Given the description of an element on the screen output the (x, y) to click on. 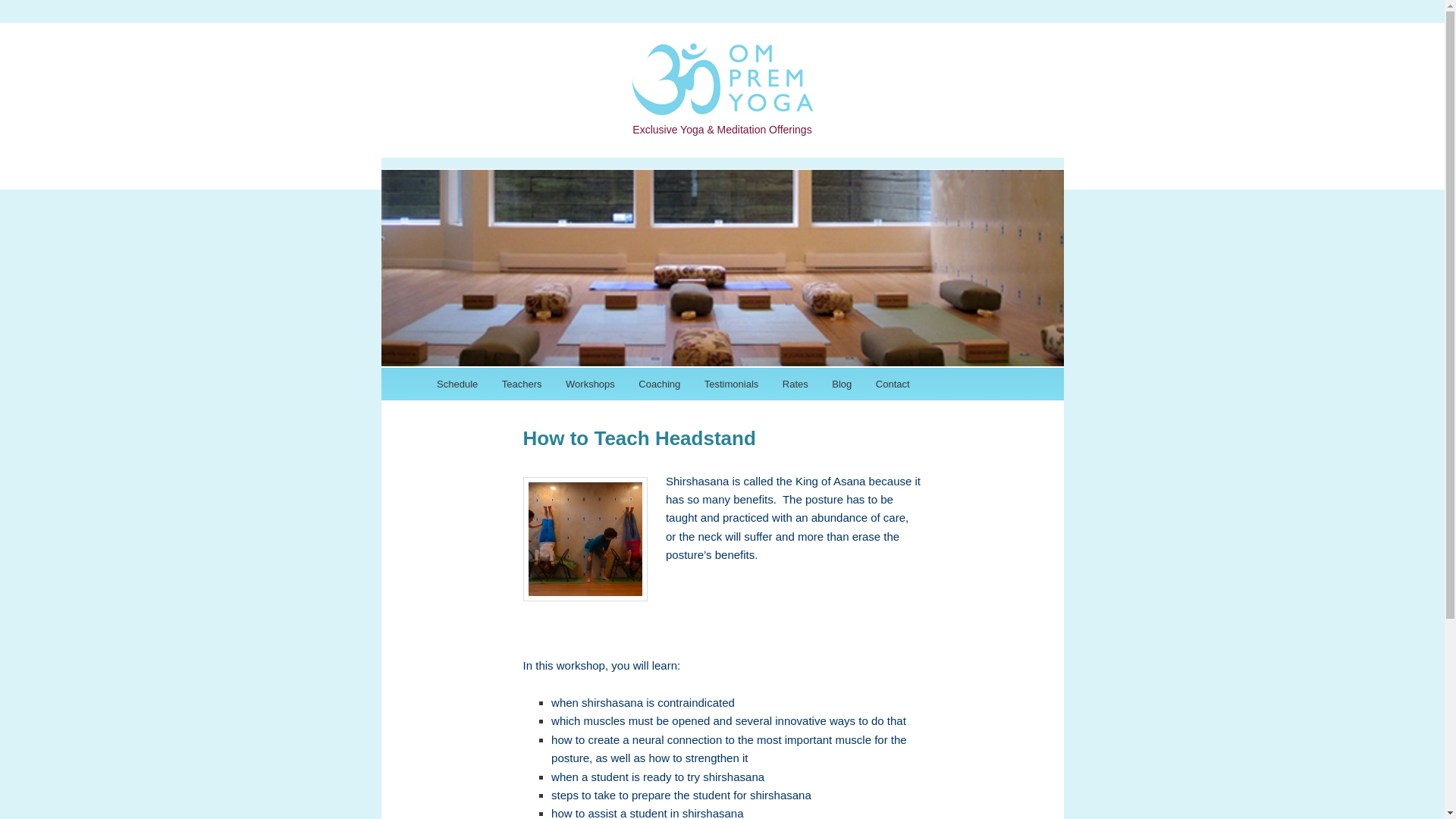
Rates (794, 382)
Blog (842, 382)
Contact (892, 382)
Coaching (660, 382)
Schedule (457, 382)
Workshops (589, 382)
Skip to secondary content (511, 385)
Om Prem Yoga Studio (721, 101)
Teachers (521, 382)
Skip to primary content (504, 385)
